Given the description of an element on the screen output the (x, y) to click on. 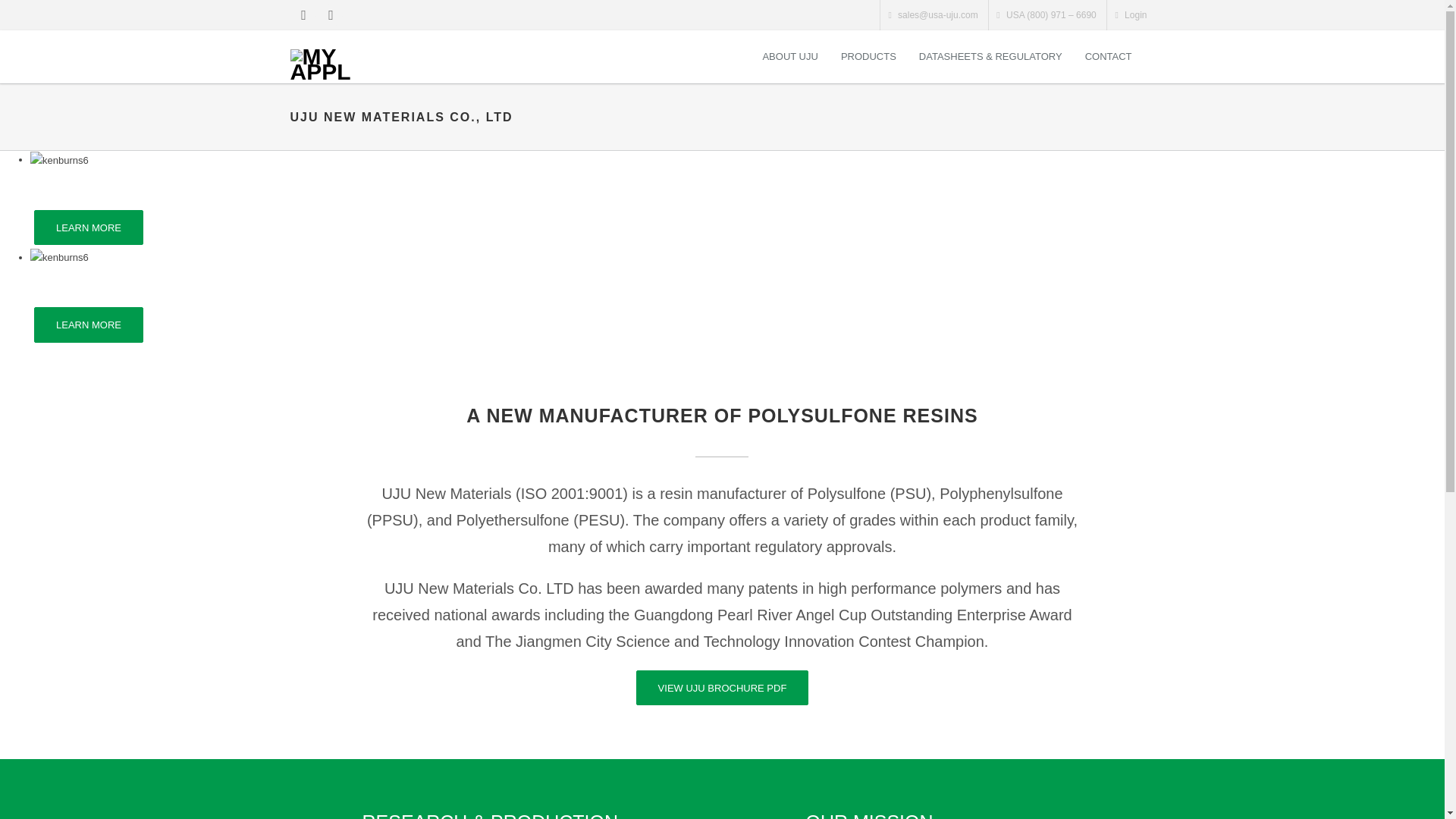
LEARN MORE (87, 324)
Login (1131, 14)
REQUEST ADDITIONAL INFO (243, 226)
VIEW UJU BROCHURE PDF (722, 687)
CONTACT (1108, 56)
PRODUCTS (868, 56)
REQUEST ADDITIONAL INFO (243, 324)
LEARN MORE (87, 226)
ABOUT UJU (789, 56)
